Given the description of an element on the screen output the (x, y) to click on. 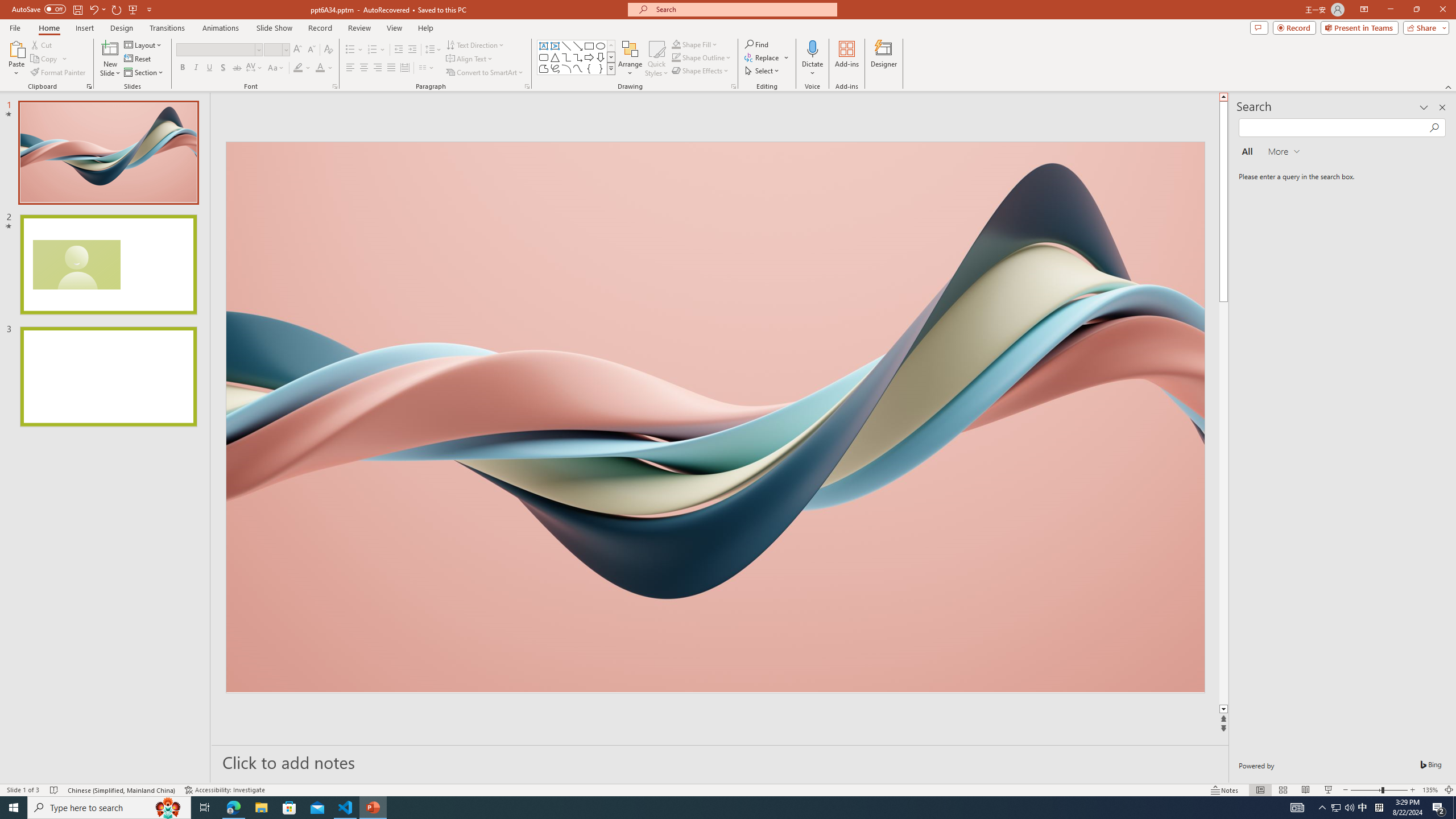
Zoom 135% (1430, 790)
